Given the description of an element on the screen output the (x, y) to click on. 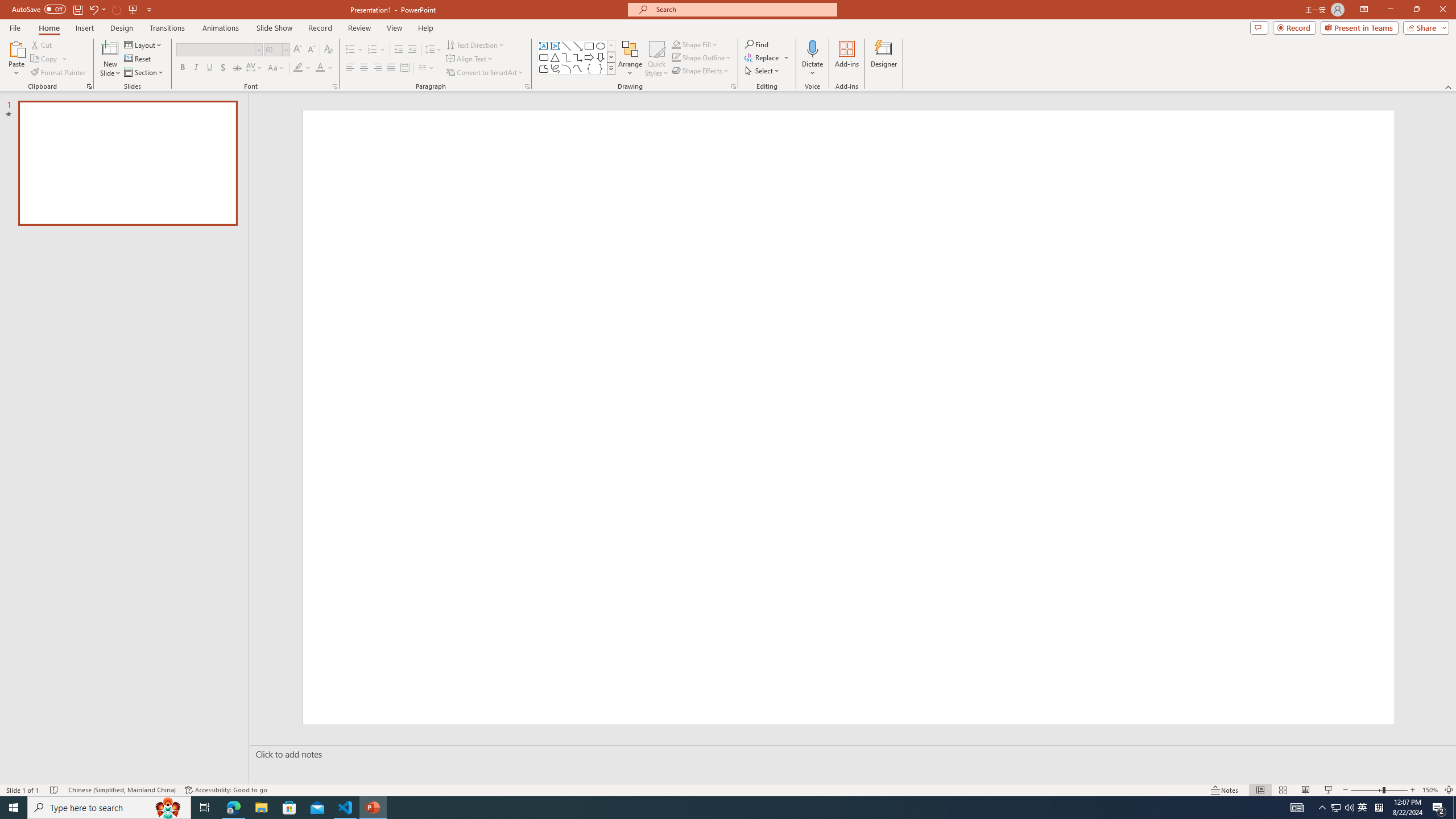
Increase Indent (412, 49)
Shape Effects (700, 69)
Notes  (1225, 790)
Reset (138, 58)
Paste (16, 48)
Replace... (762, 56)
Arc (566, 68)
Columns (426, 67)
Replace... (767, 56)
Bullets (354, 49)
